Given the description of an element on the screen output the (x, y) to click on. 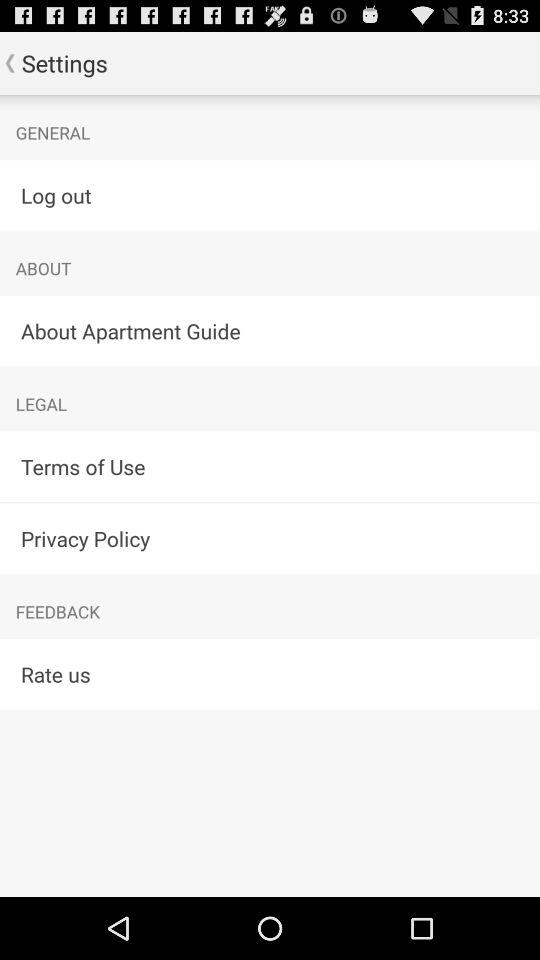
press log out item (270, 194)
